Given the description of an element on the screen output the (x, y) to click on. 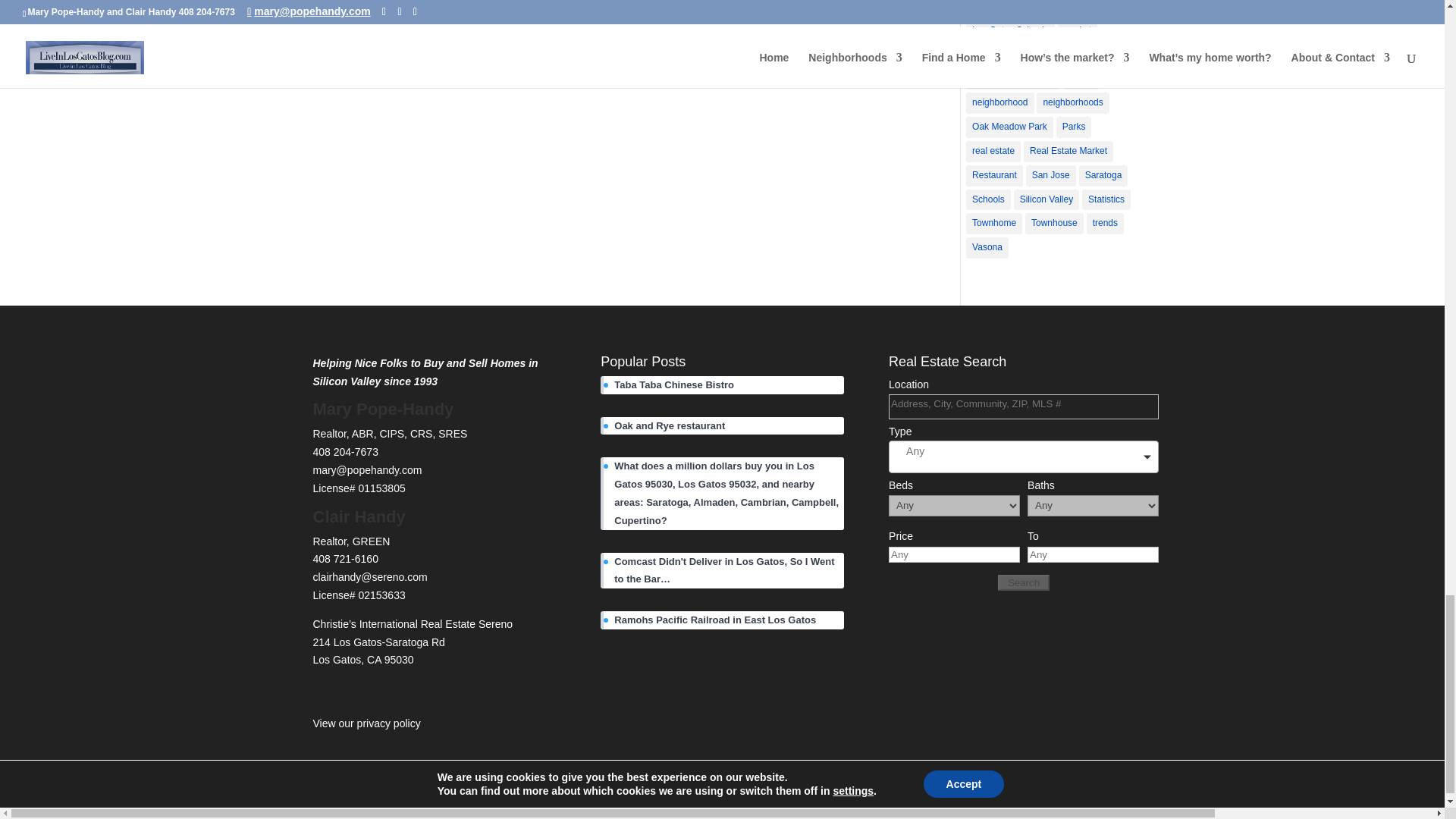
Search (1023, 582)
